Given the description of an element on the screen output the (x, y) to click on. 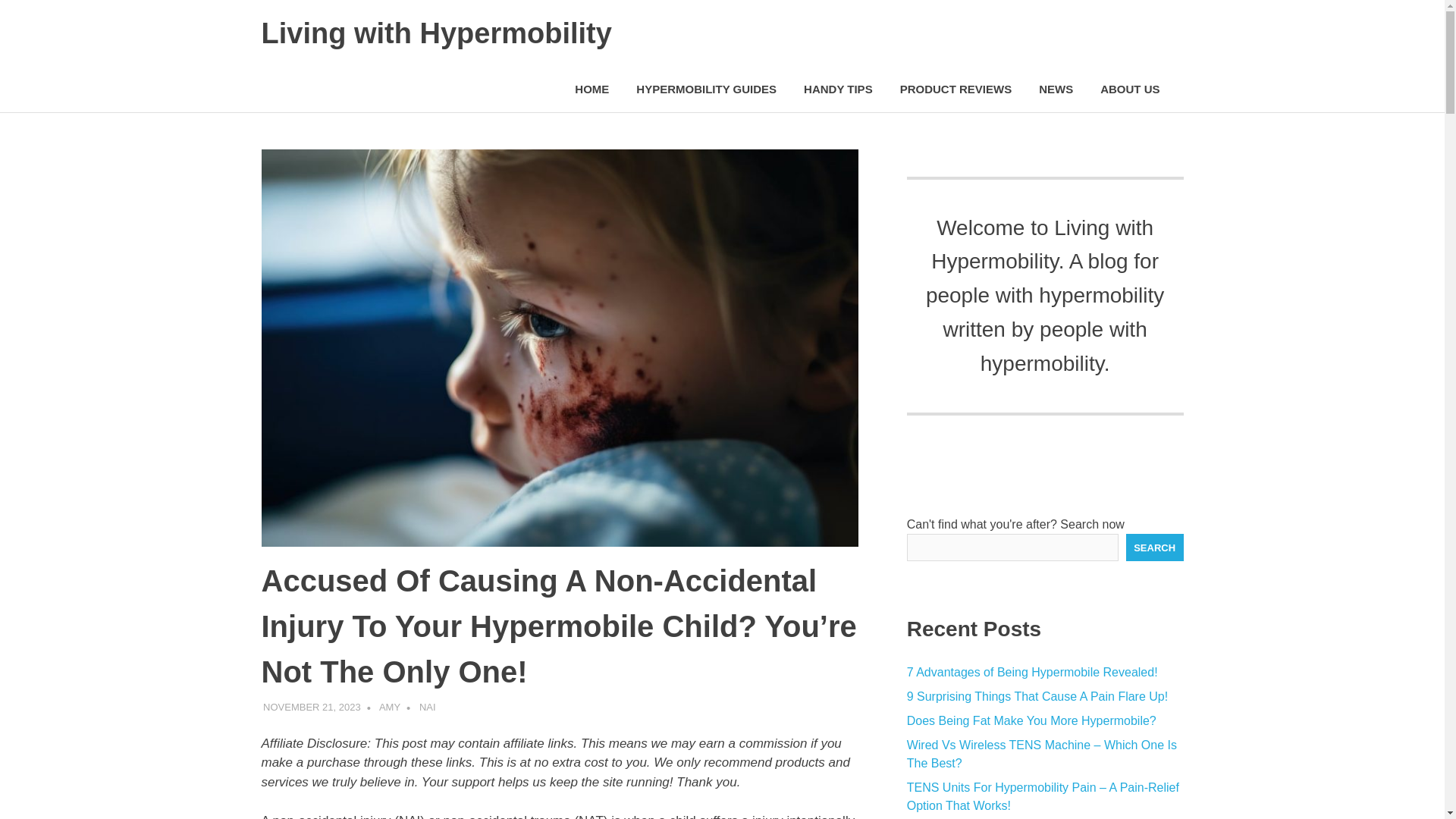
1:50 pm (312, 706)
Living with Hypermobility (435, 33)
HYPERMOBILITY GUIDES (706, 89)
View all posts by Amy (389, 706)
ABOUT US (1134, 89)
AMY (389, 706)
HANDY TIPS (838, 89)
NOVEMBER 21, 2023 (312, 706)
NEWS (1055, 89)
PRODUCT REVIEWS (956, 89)
